Given the description of an element on the screen output the (x, y) to click on. 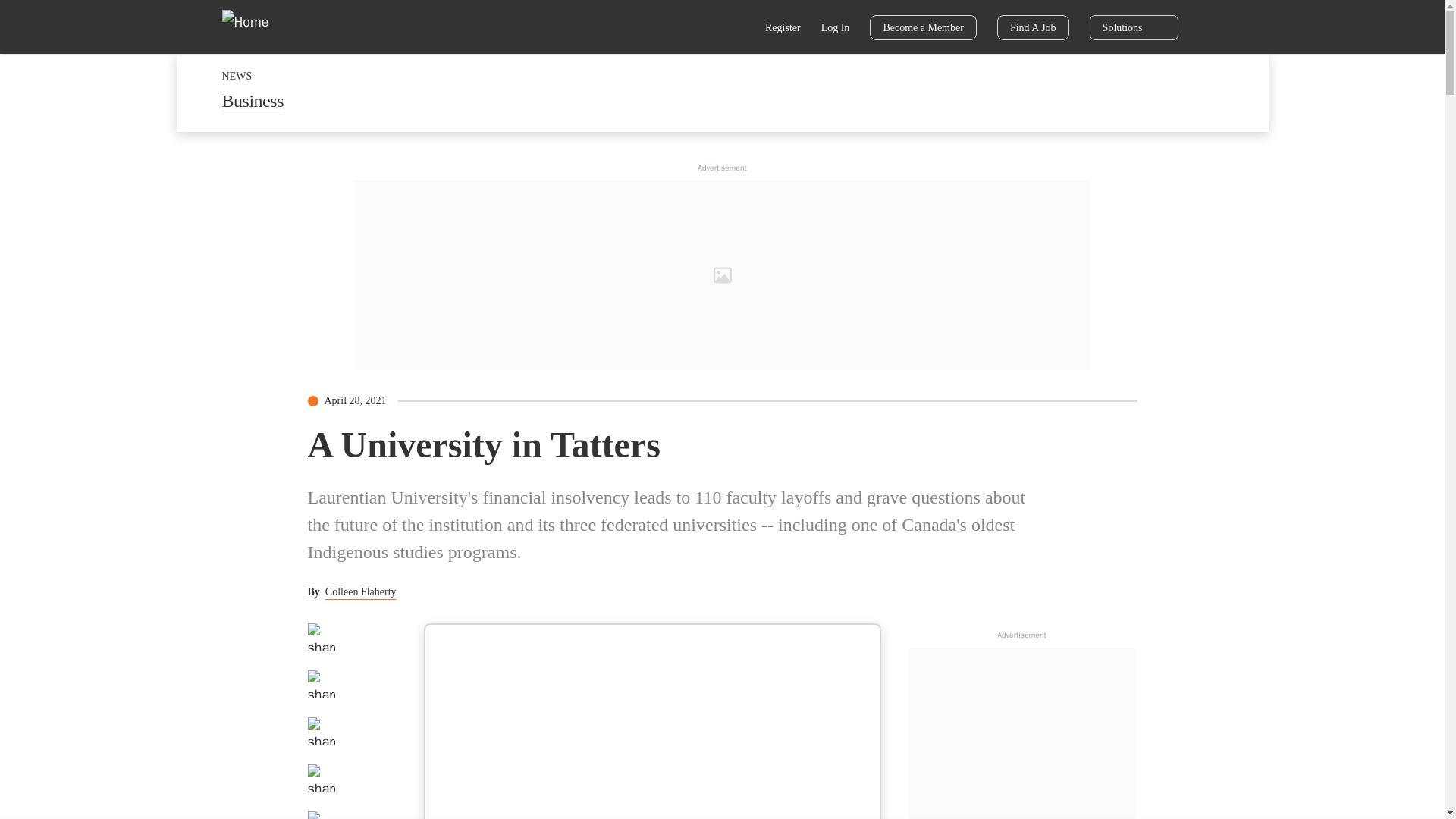
share to facebook (320, 636)
share to Linkedin (320, 730)
Find A Job (1032, 27)
Search (736, 28)
share by email (320, 777)
Become a Member (922, 27)
share to twitter (320, 683)
Home (255, 26)
